Given the description of an element on the screen output the (x, y) to click on. 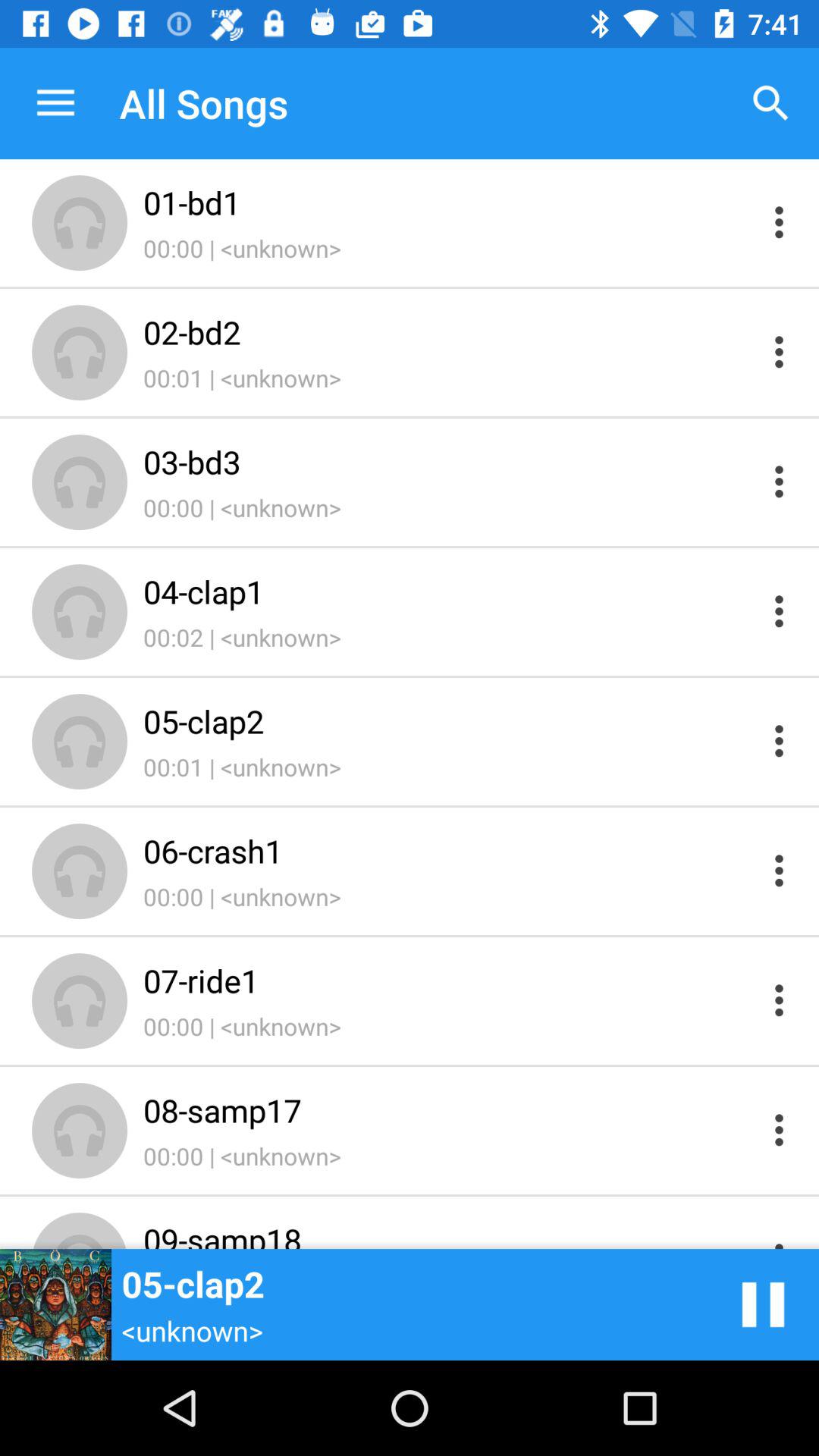
select item above the 01-bd1 (771, 103)
